Given the description of an element on the screen output the (x, y) to click on. 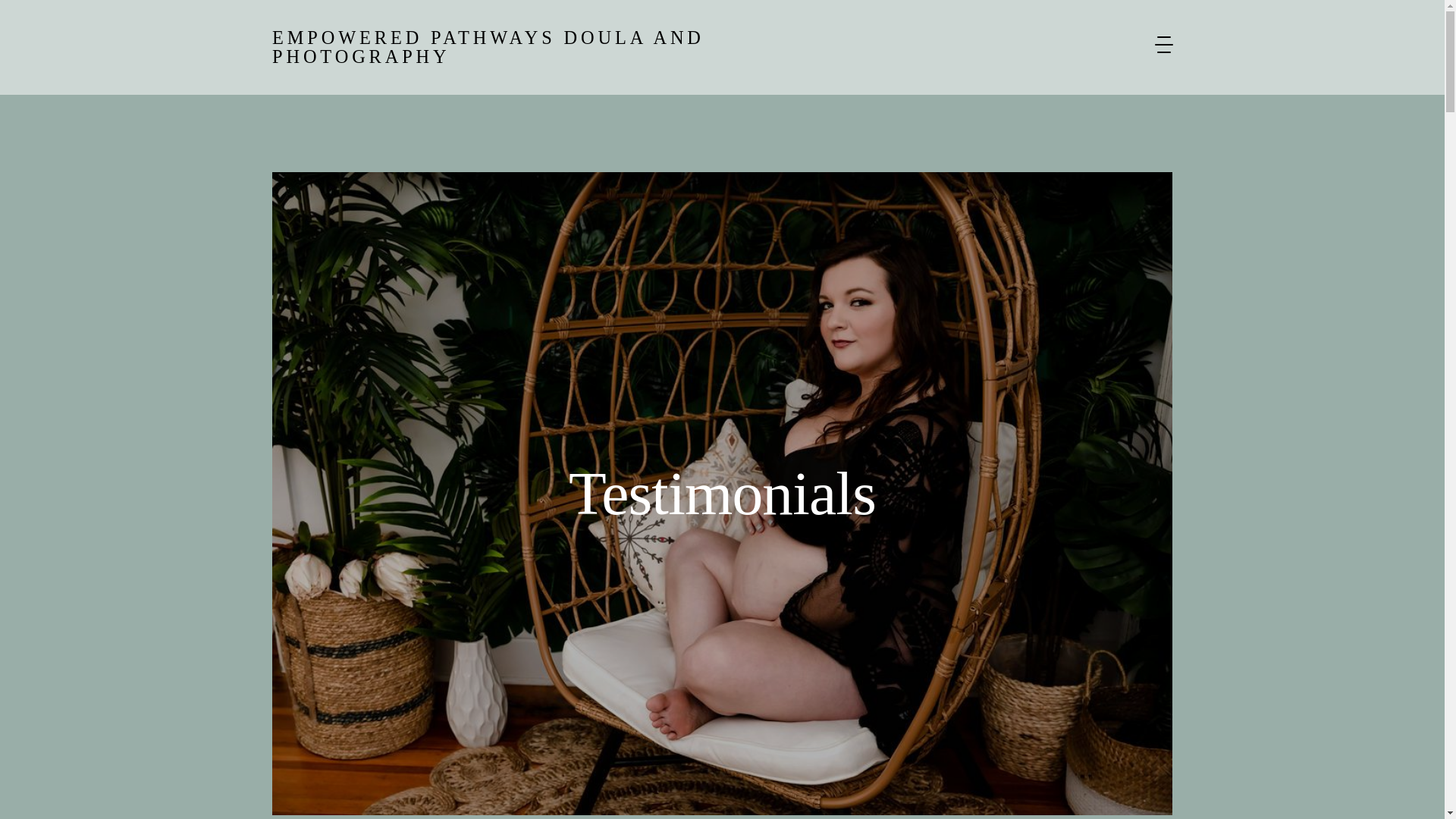
EMPOWERED PATHWAYS DOULA AND PHOTOGRAPHY (566, 47)
